Given the description of an element on the screen output the (x, y) to click on. 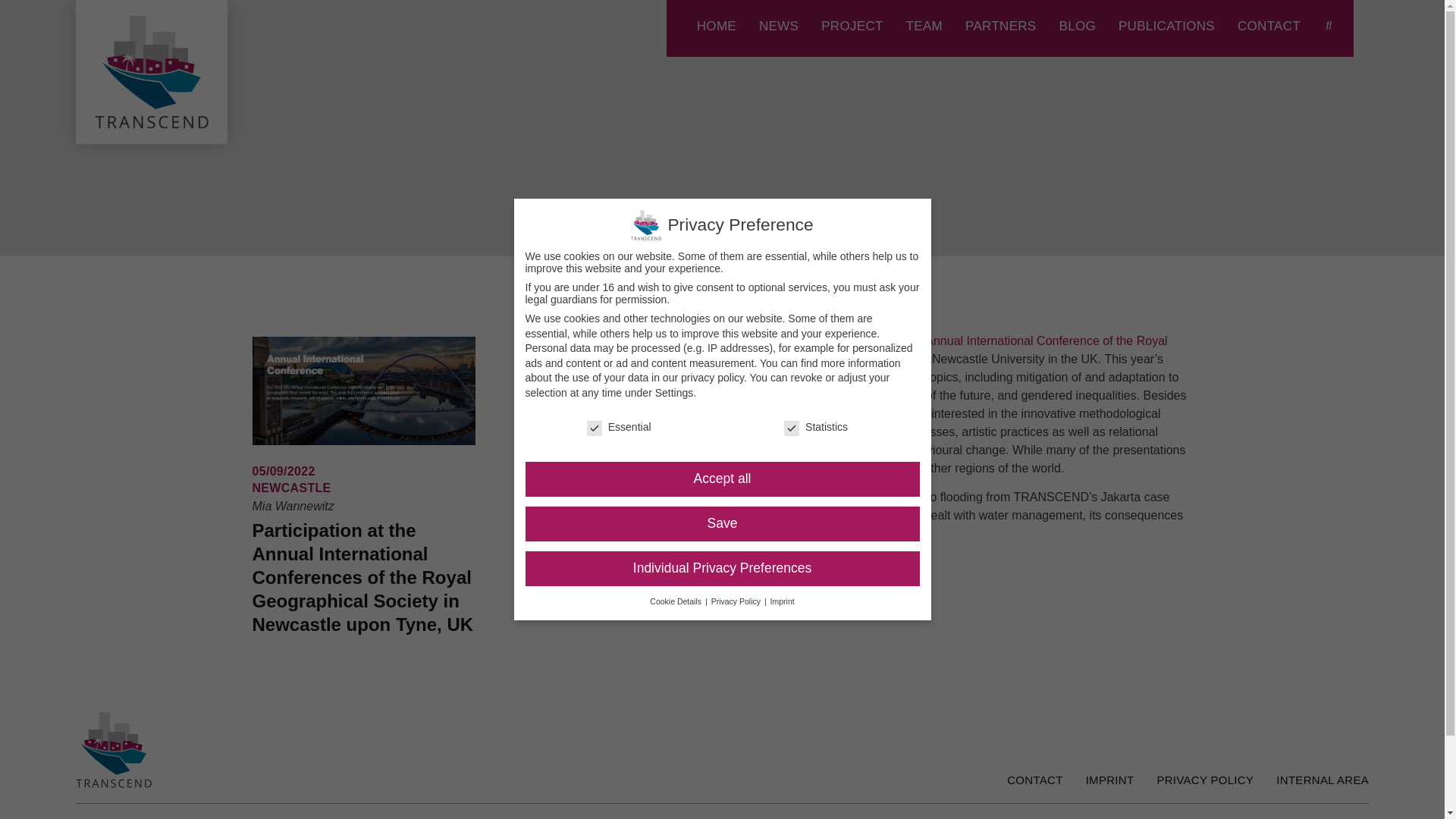
PROJECT (851, 26)
BLOG (1076, 26)
TEAM (923, 26)
NEWS (777, 26)
PARTNERS (1000, 26)
NEWCASTLE (290, 487)
CONTACT (1268, 26)
HOME (716, 26)
PUBLICATIONS (1166, 26)
